Given the description of an element on the screen output the (x, y) to click on. 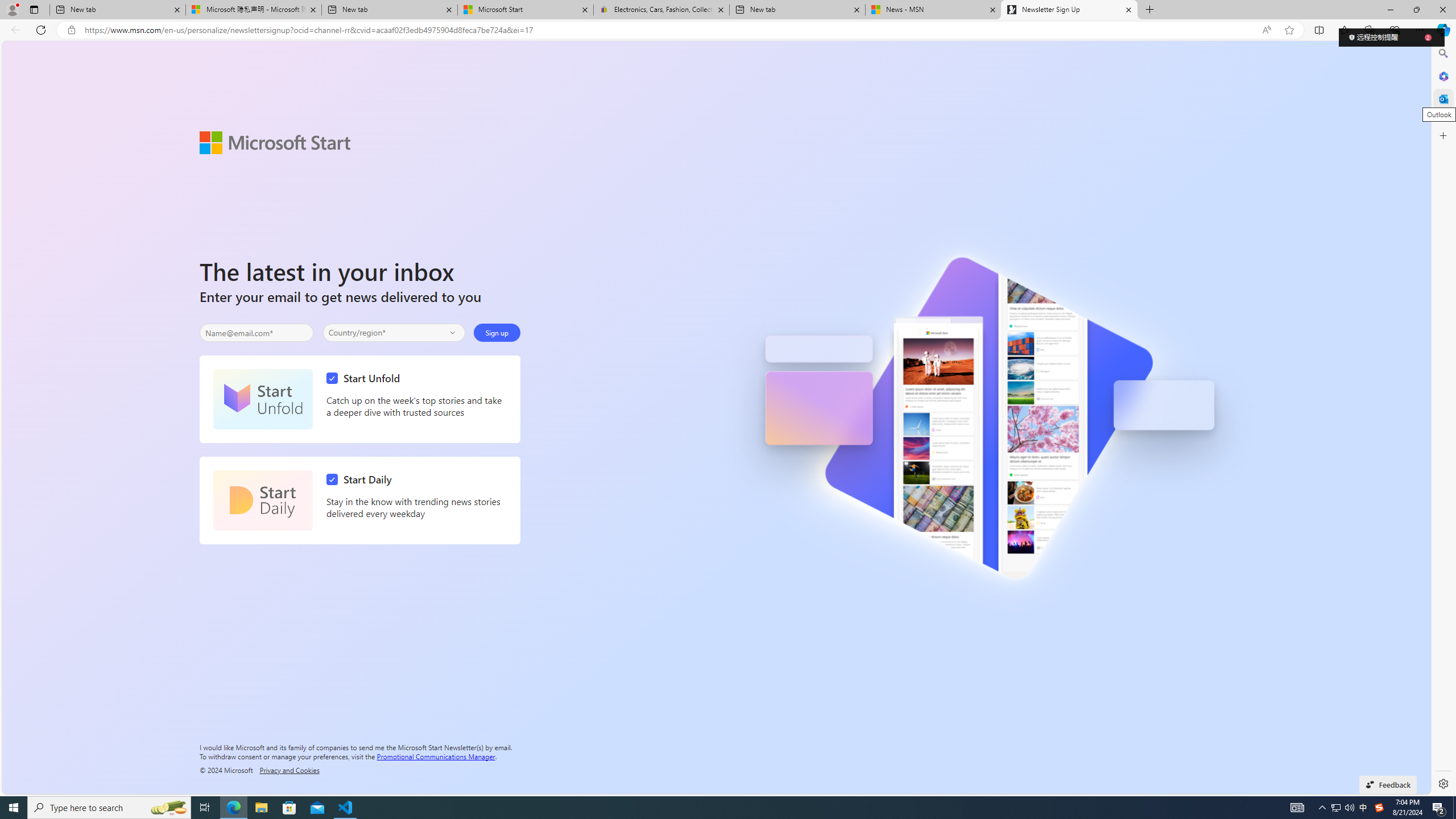
Start Unfold (366, 378)
Privacy and Cookies (289, 769)
Sign up (496, 332)
Promotional Communications Manager (436, 755)
Newsletter Sign Up (1068, 9)
Enter your email (256, 332)
